Given the description of an element on the screen output the (x, y) to click on. 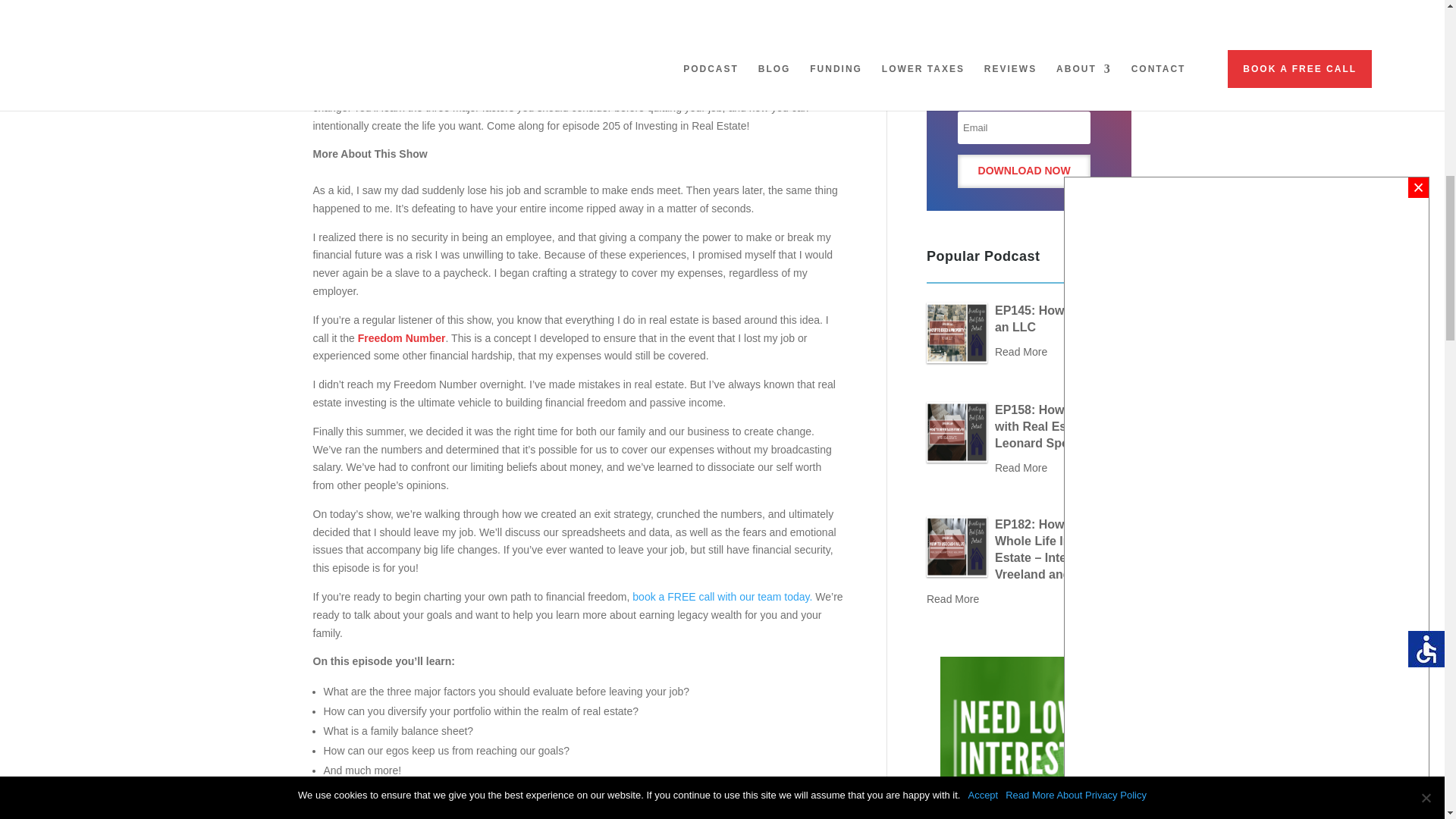
EP145: How to Deed a Property to an LLC (956, 332)
